Given the description of an element on the screen output the (x, y) to click on. 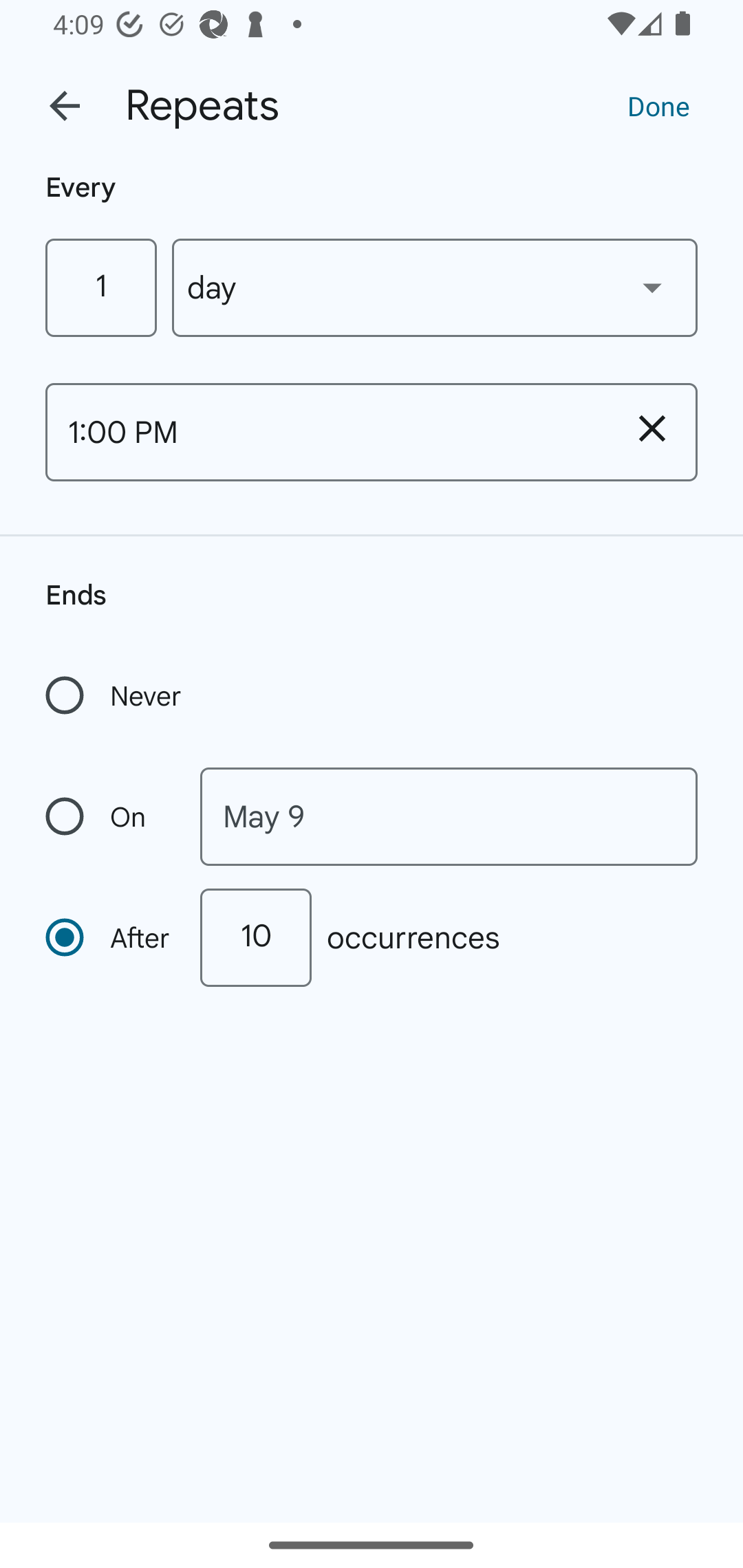
Back (64, 105)
Done (658, 105)
1 (100, 287)
day (434, 287)
Show dropdown menu (652, 286)
1:00 PM (326, 431)
Remove 1:00 PM (652, 427)
Never Recurrence never ends (115, 695)
May 9 (448, 815)
On Recurrence ends on a specific date (109, 815)
10 (255, 937)
